Given the description of an element on the screen output the (x, y) to click on. 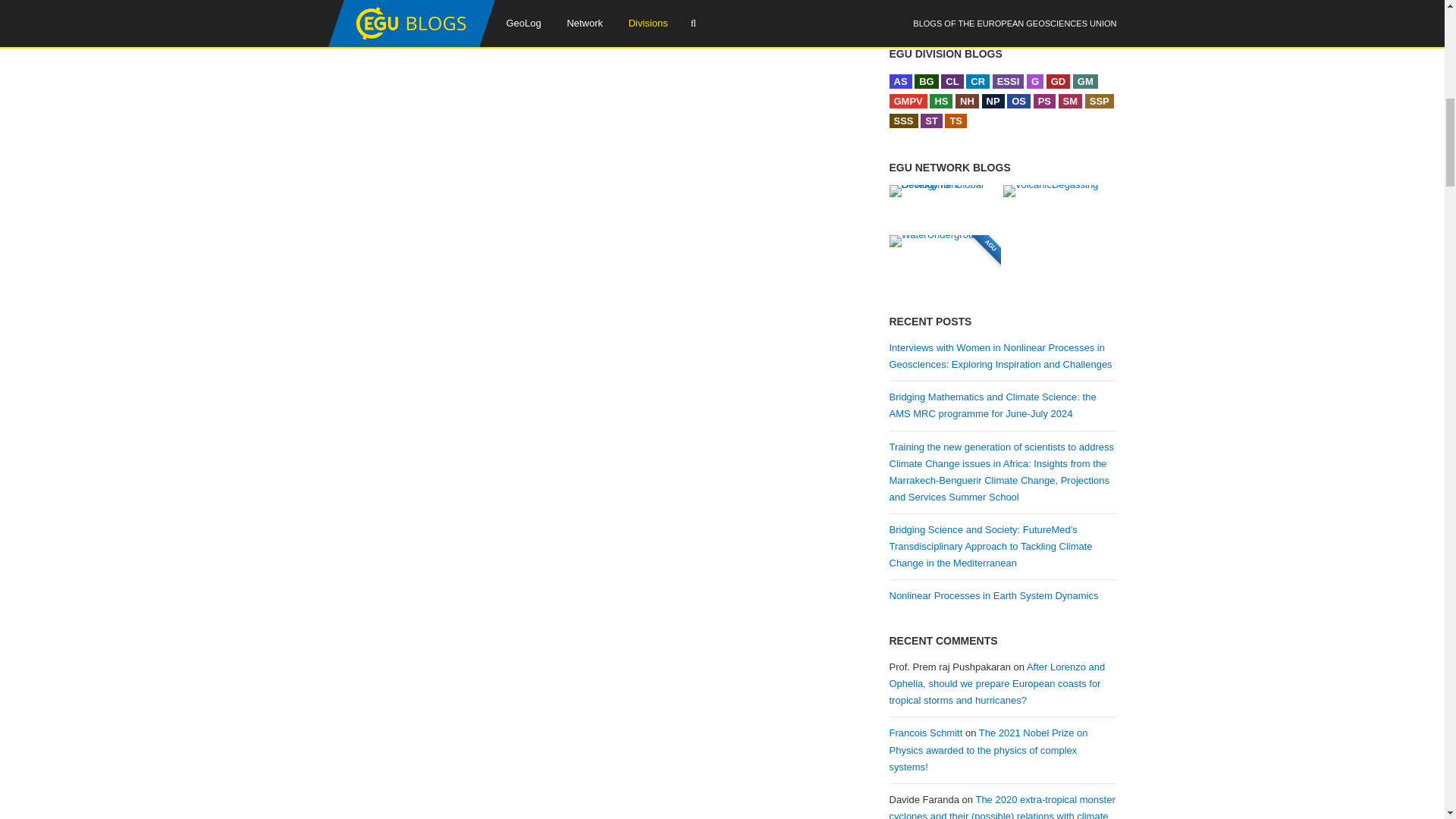
Hydrological Sciences (941, 101)
Atmospheric Sciences (899, 81)
Geomorphology (1085, 81)
Geodesy (1034, 81)
Subscribe (920, 8)
Earth and Space Science Informatics (1008, 81)
Unsubscribe (992, 8)
Natural Hazards (966, 101)
Cryospheric Sciences (978, 81)
Geodynamics (1058, 81)
Biogeosciences (926, 81)
